Given the description of an element on the screen output the (x, y) to click on. 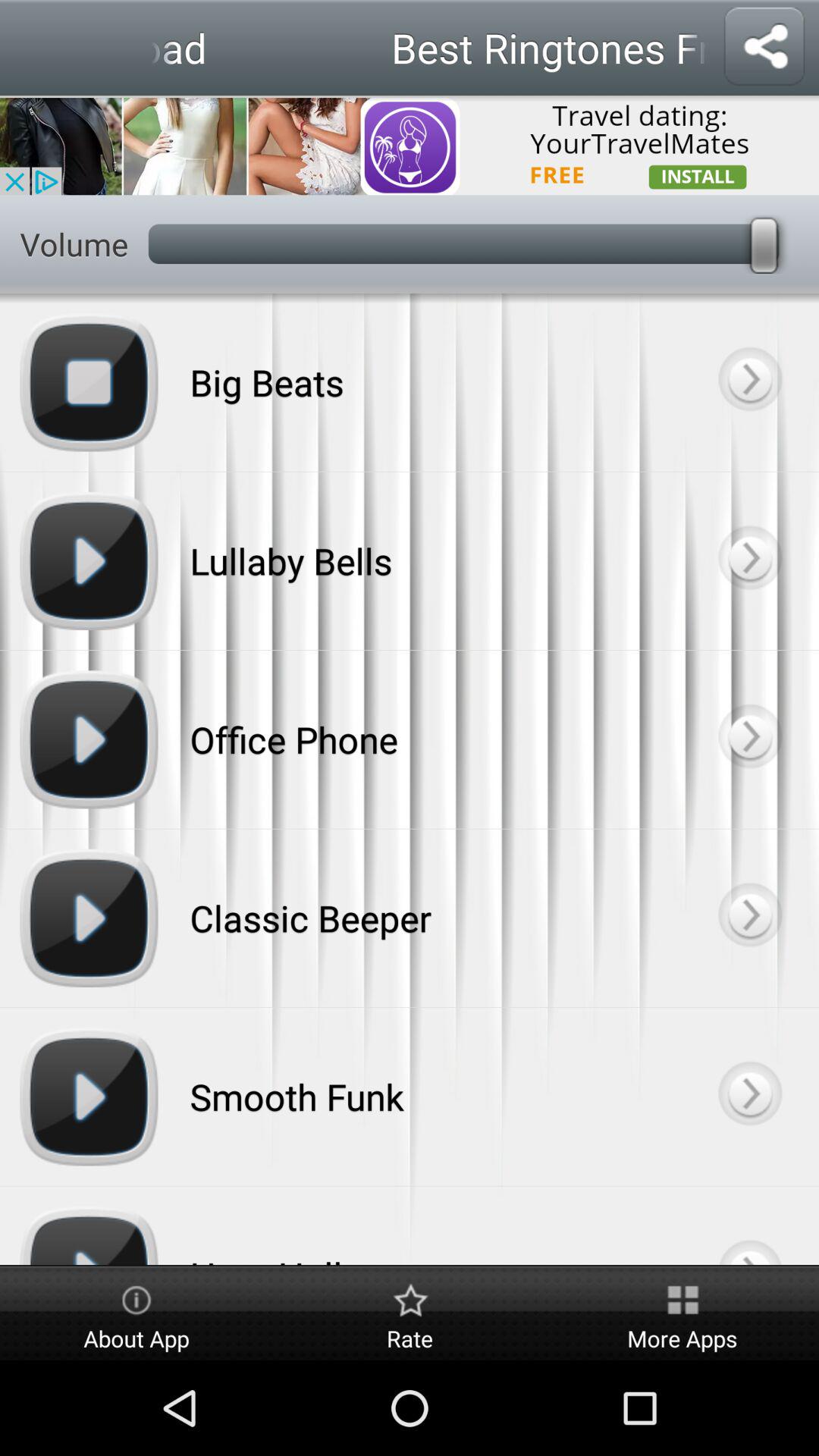
go to next (749, 1225)
